Given the description of an element on the screen output the (x, y) to click on. 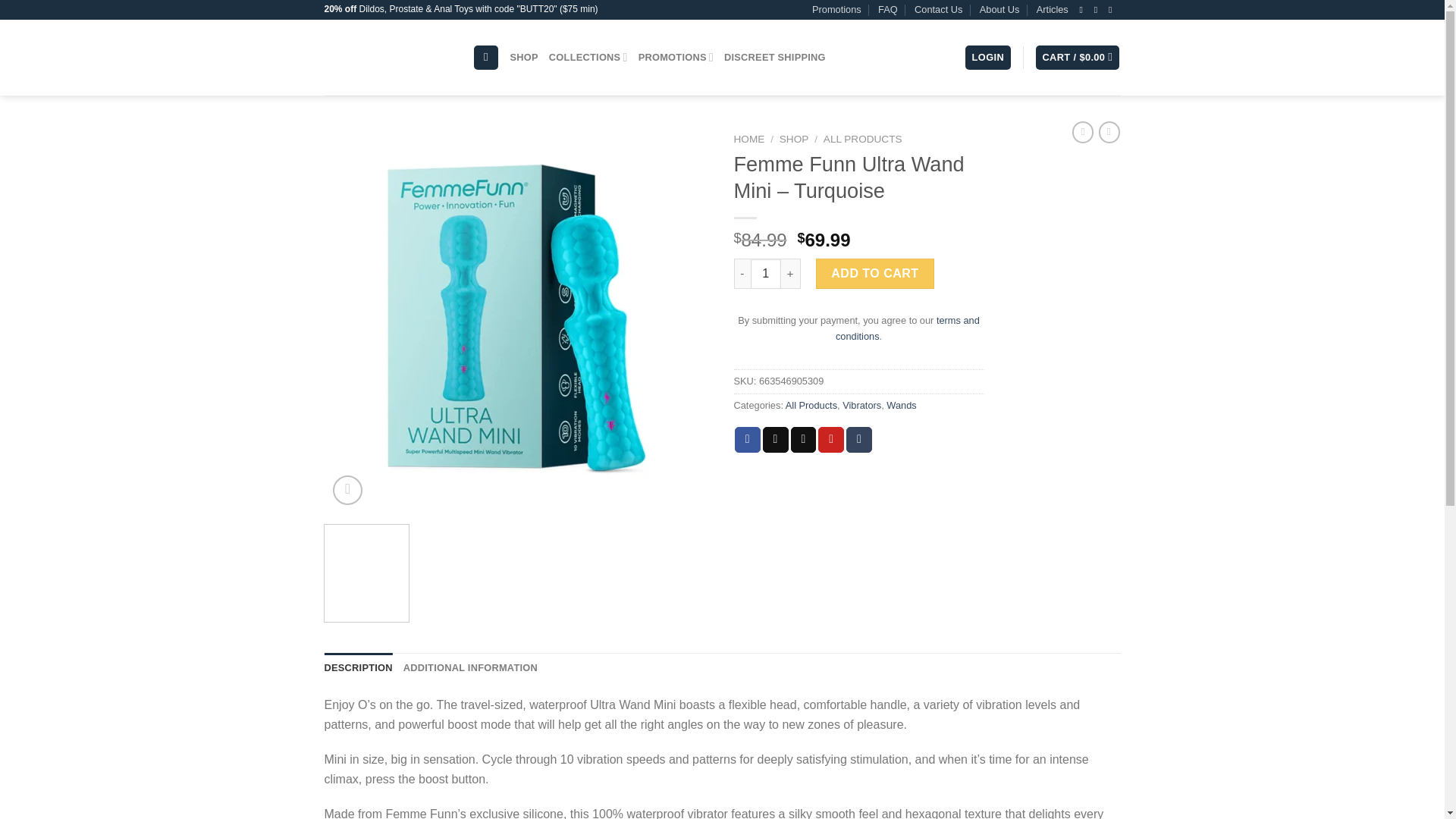
SHOP (524, 57)
DISCREET SHIPPING (774, 57)
Zoom (347, 490)
Articles (1052, 9)
LOGIN (987, 57)
Email to a Friend (803, 439)
COLLECTIONS (587, 57)
Share on Facebook (747, 439)
FAQ (887, 9)
1 (765, 273)
PROMOTIONS (676, 57)
About Us (999, 9)
Contact Us (938, 9)
Share on X (775, 439)
Promotions (836, 9)
